Given the description of an element on the screen output the (x, y) to click on. 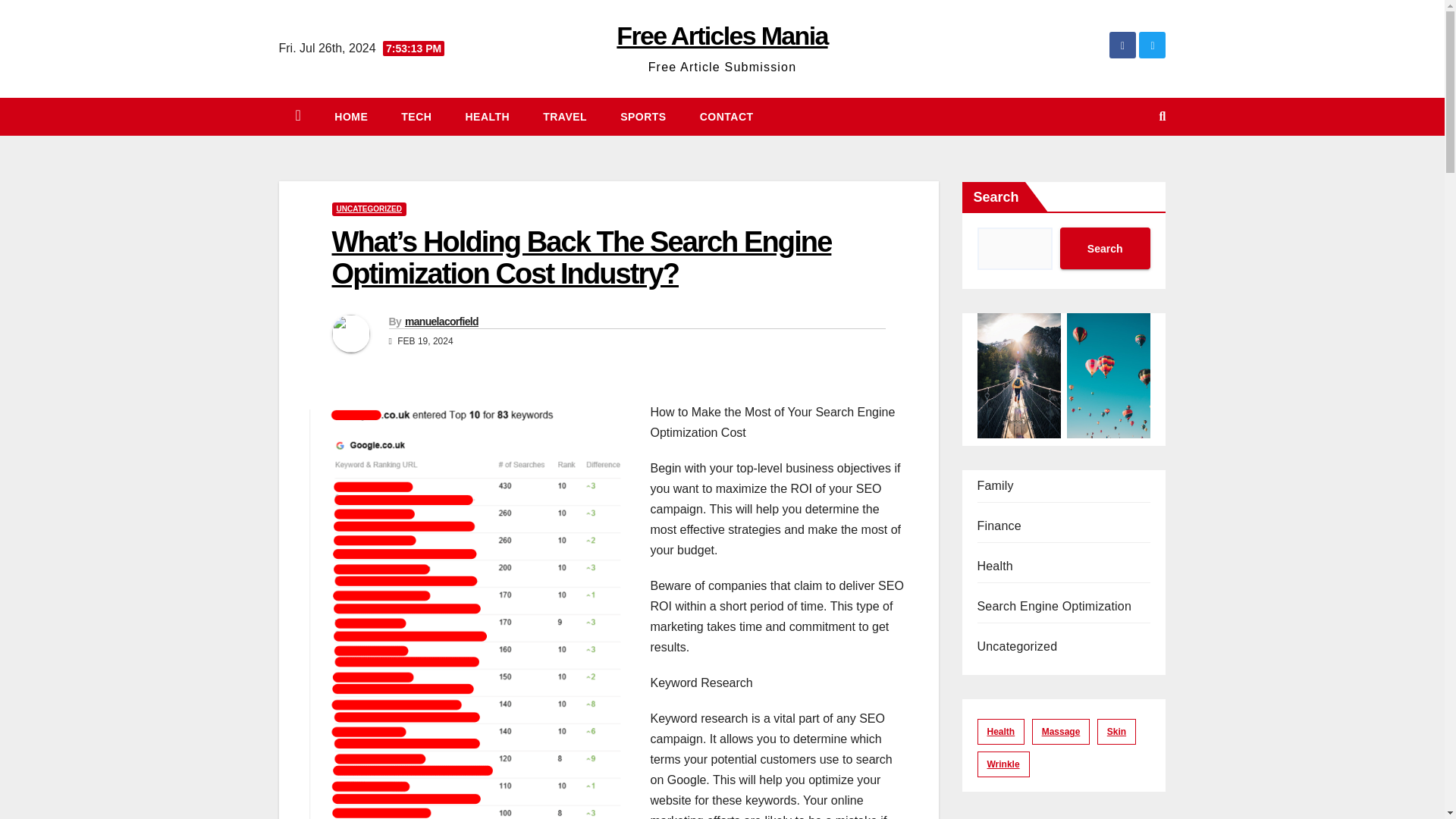
Home (350, 116)
manuelacorfield (441, 321)
HOME (350, 116)
SPORTS (643, 116)
Travel (564, 116)
HEALTH (486, 116)
CONTACT (726, 116)
UNCATEGORIZED (368, 209)
TRAVEL (564, 116)
Health (486, 116)
Sports (643, 116)
Tech (416, 116)
TECH (416, 116)
Contact (726, 116)
Free Articles Mania (721, 35)
